Given the description of an element on the screen output the (x, y) to click on. 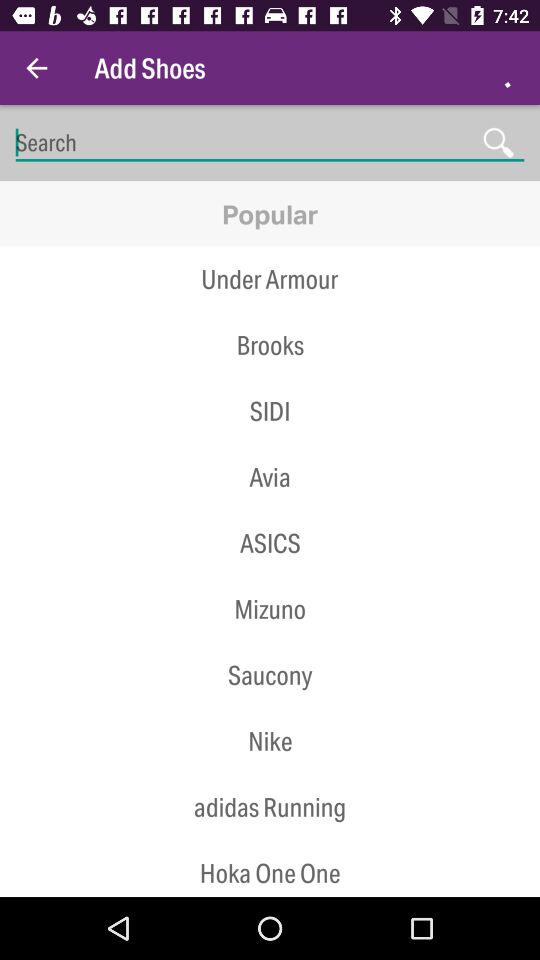
click item above sidi (270, 378)
